Given the description of an element on the screen output the (x, y) to click on. 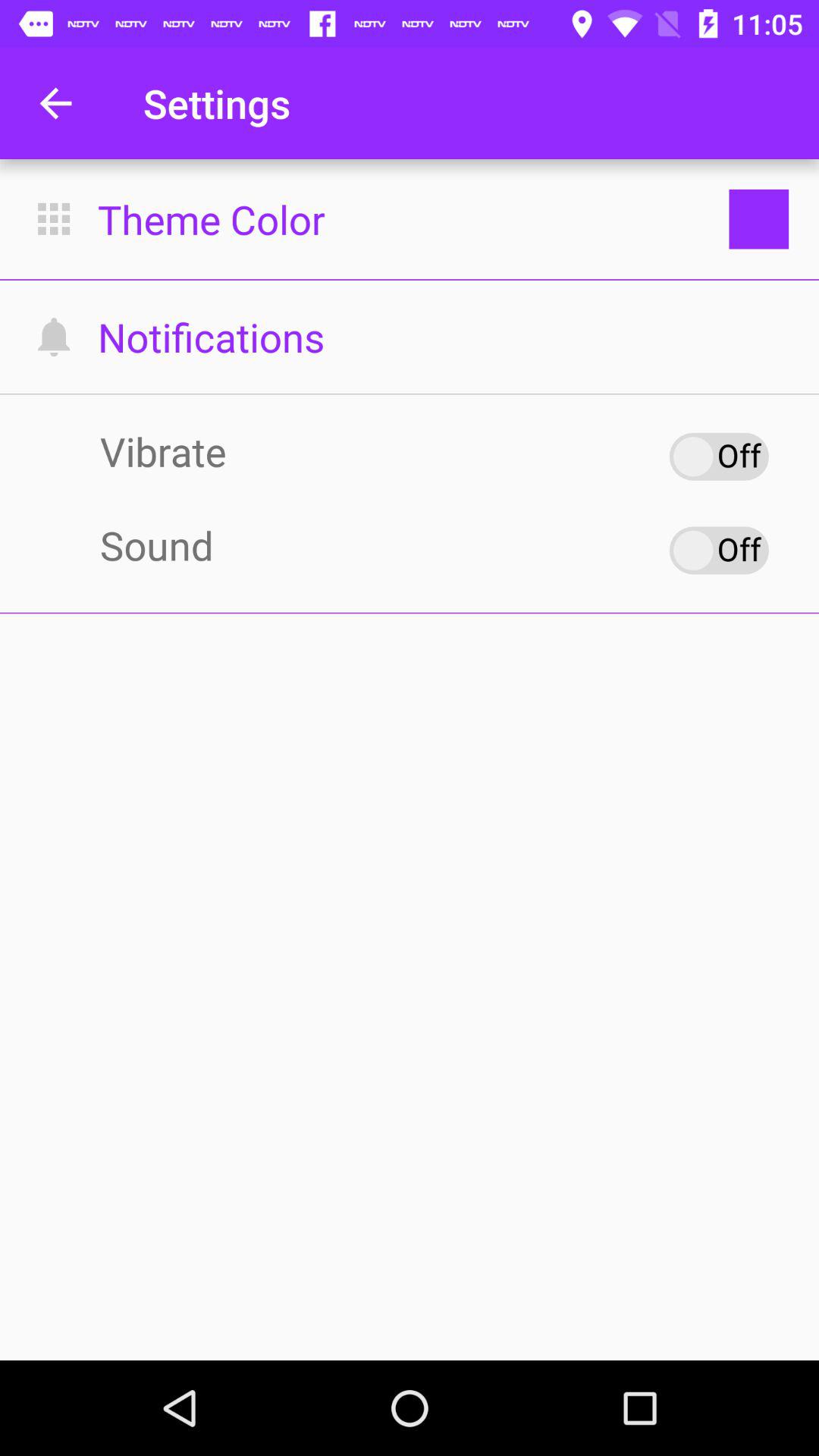
turn on the item next to settings item (55, 103)
